Given the description of an element on the screen output the (x, y) to click on. 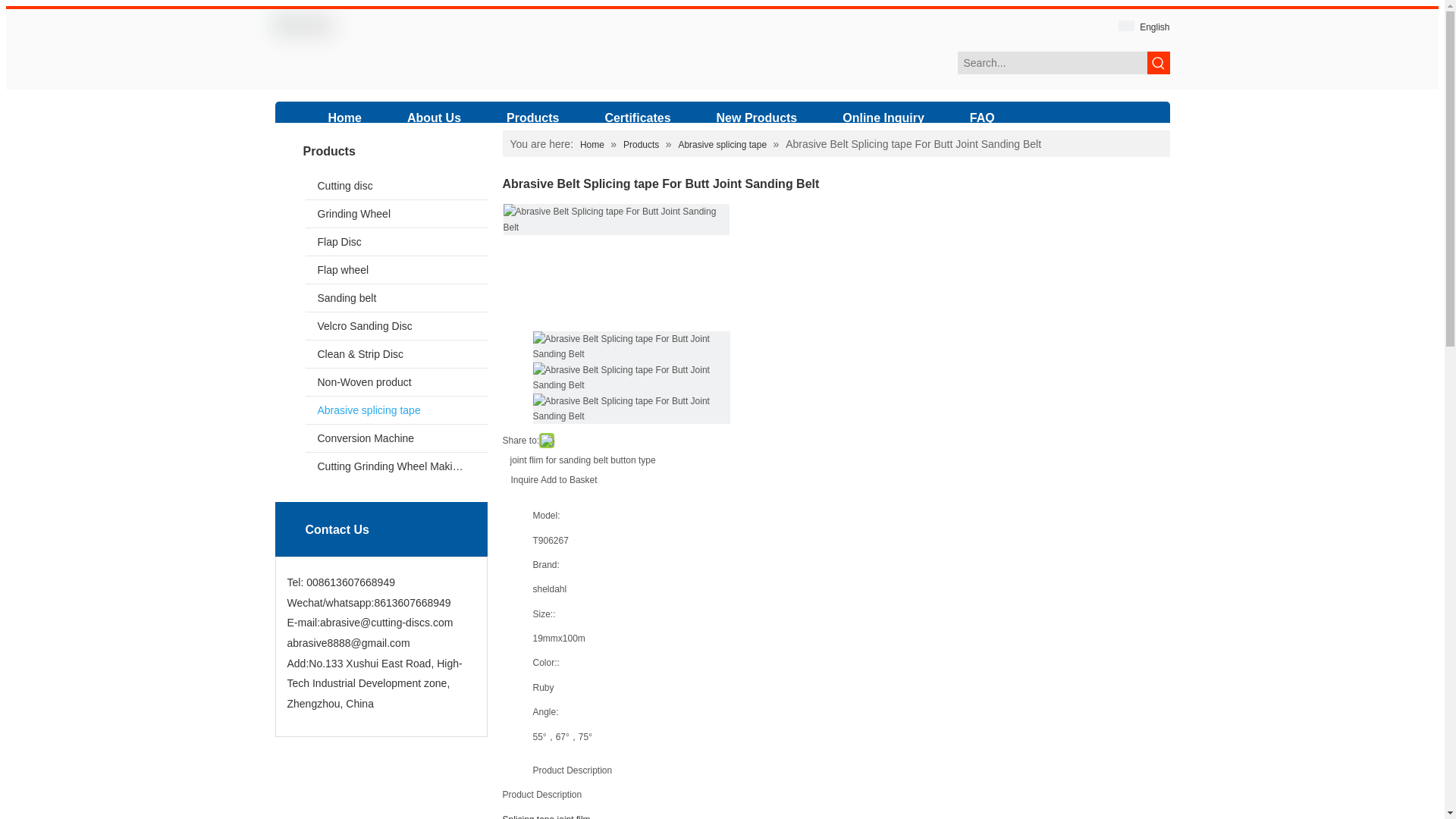
Grinding Wheel (395, 213)
Cutting Grinding Wheel Making Machine (395, 465)
Online Inquiry (883, 118)
Sanding belt (395, 298)
Home (593, 144)
About Us (433, 118)
FAQ (982, 118)
Home (344, 118)
Flap Disc (395, 241)
Conversion Machine (395, 438)
Cutting Grinding Wheel Making Machine (395, 465)
Velcro Sanding Disc (395, 325)
Products (642, 144)
Non-Woven product (395, 381)
Cutting disc (395, 185)
